Given the description of an element on the screen output the (x, y) to click on. 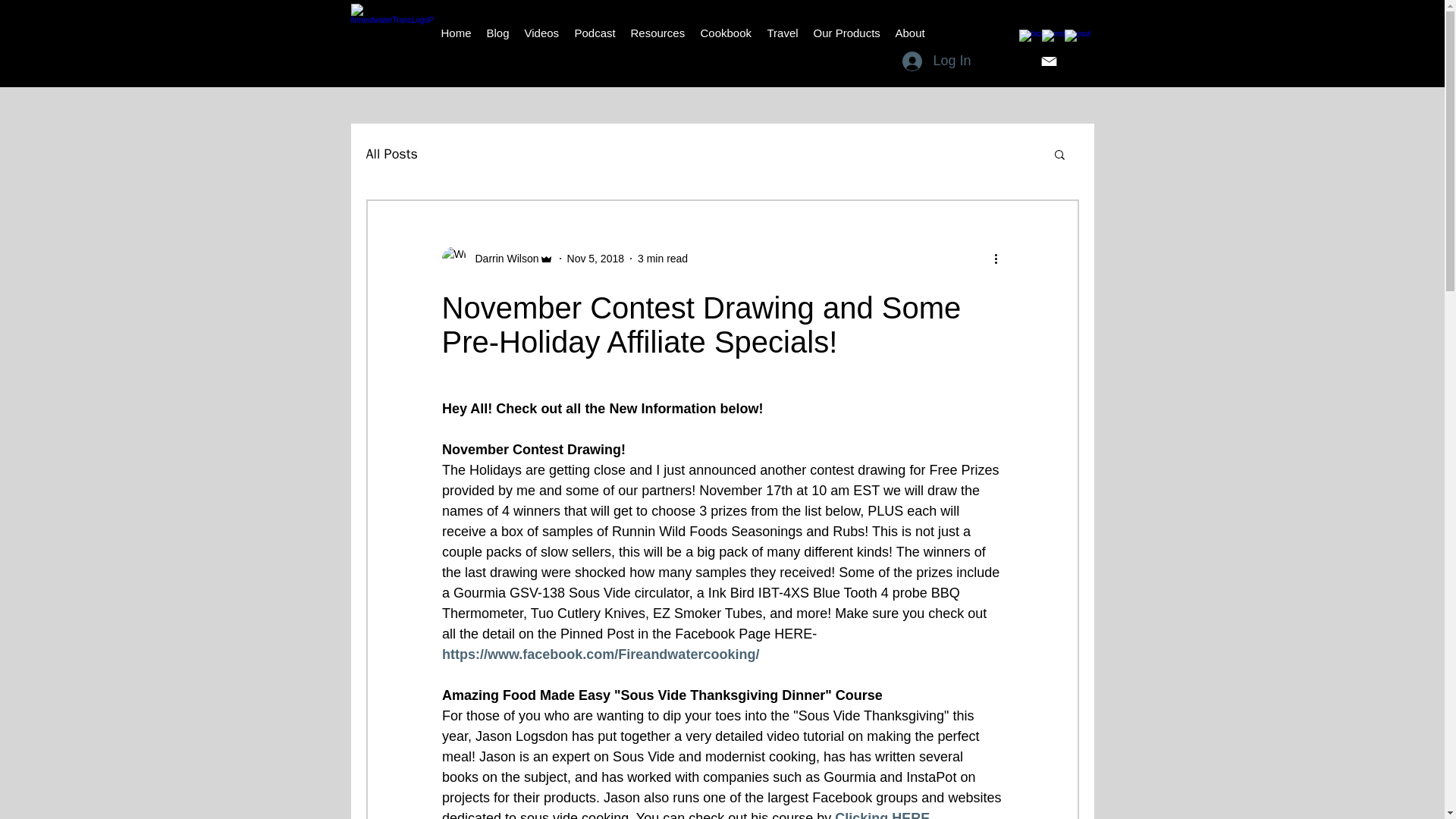
Travel (783, 33)
Home (456, 33)
Cookbook (726, 33)
Darrin Wilson (497, 258)
Our Products (845, 33)
Podcast (595, 33)
Clicking HERE (882, 814)
Darrin Wilson (501, 258)
Blog (497, 33)
Log In (936, 61)
Nov 5, 2018 (595, 257)
About (908, 33)
Videos (541, 33)
3 min read (662, 257)
Resources (658, 33)
